Given the description of an element on the screen output the (x, y) to click on. 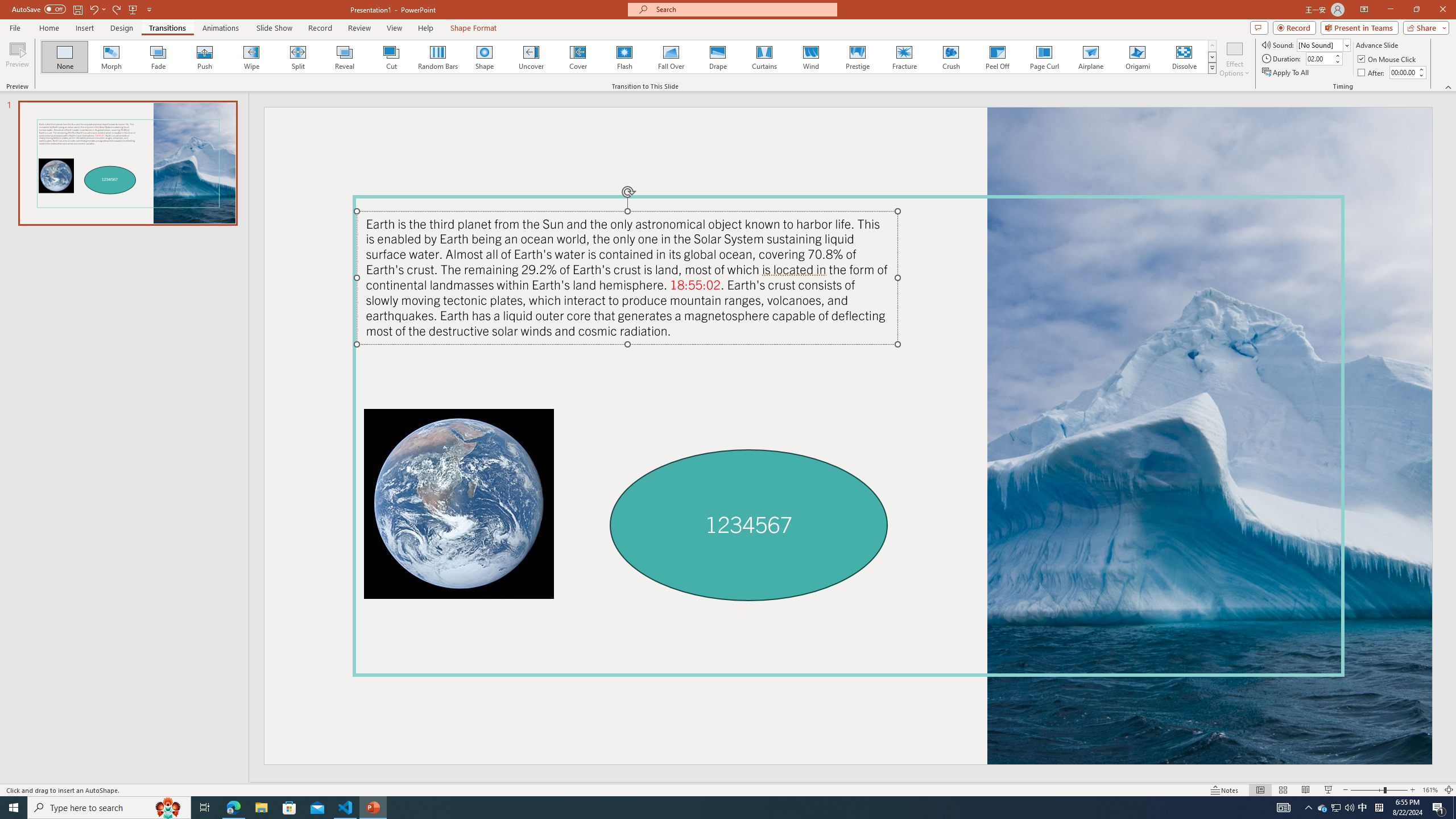
Random Bars (437, 56)
Shape (484, 56)
Duration (1319, 58)
Crush (950, 56)
